Given the description of an element on the screen output the (x, y) to click on. 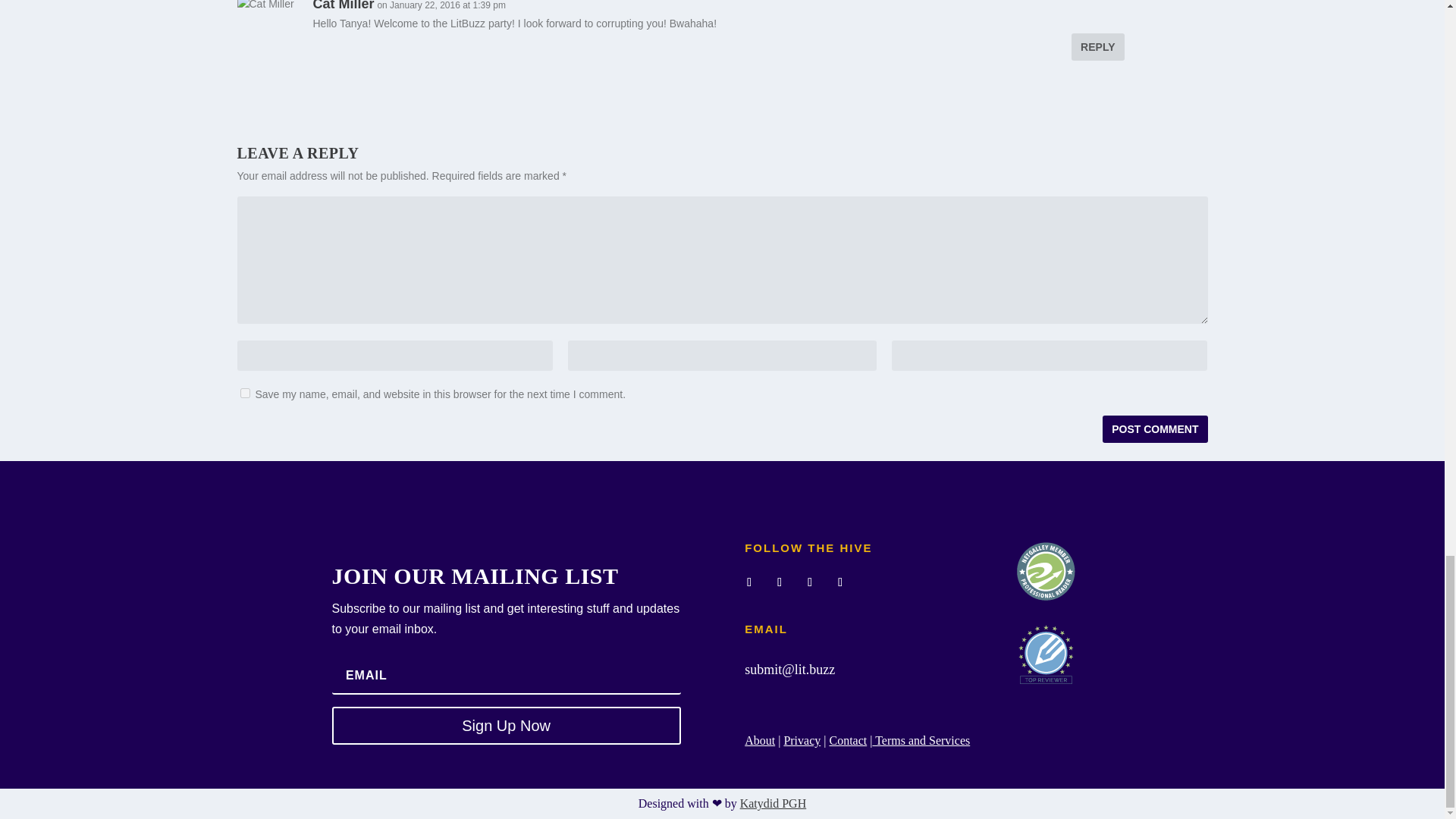
Post Comment (1154, 429)
yes (244, 393)
